Given the description of an element on the screen output the (x, y) to click on. 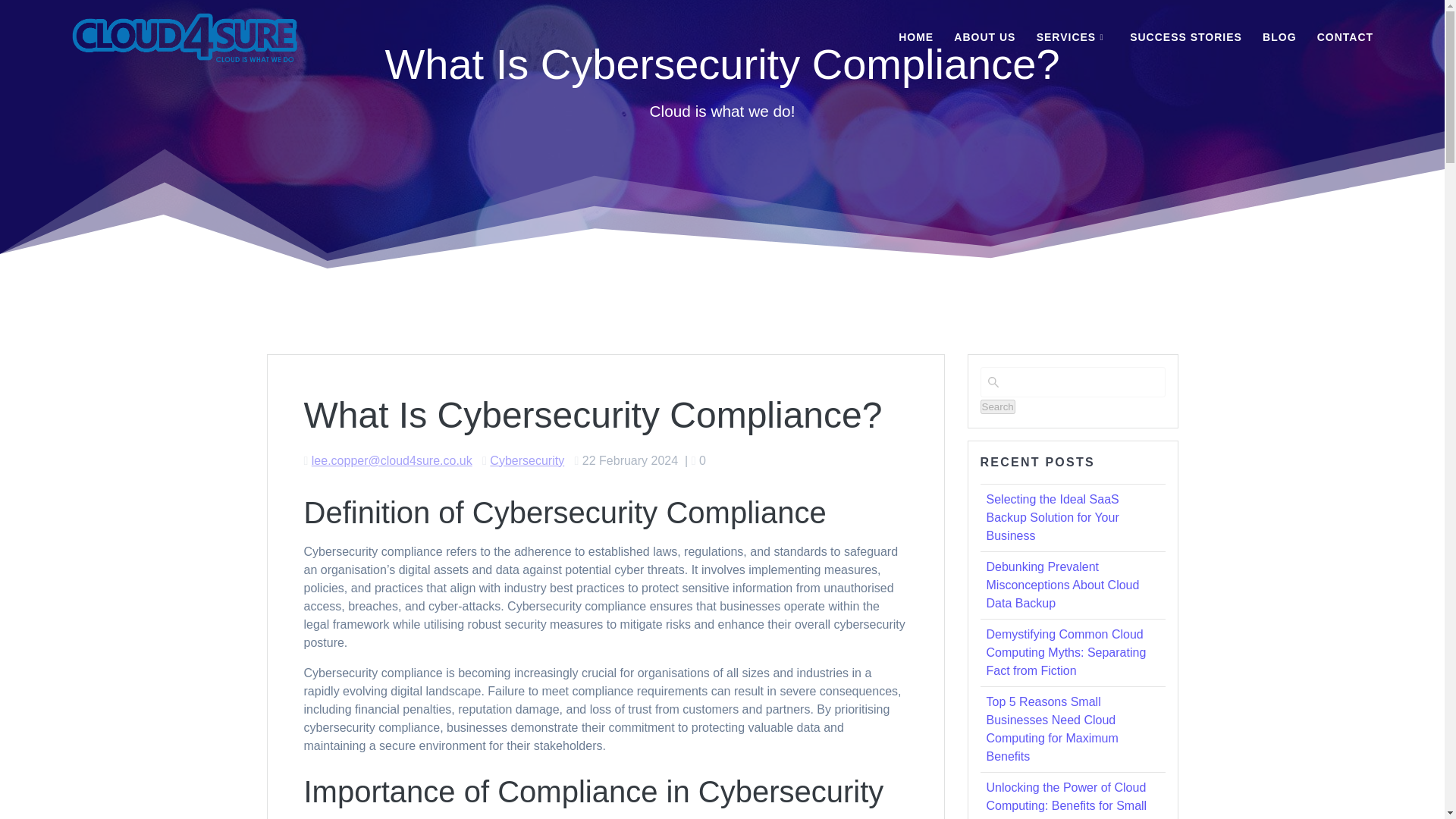
SUCCESS STORIES (1185, 37)
BLOG (1278, 37)
Search (996, 406)
Selecting the Ideal SaaS Backup Solution for Your Business (1051, 517)
Cybersecurity (526, 460)
CONTACT (1345, 37)
Debunking Prevalent Misconceptions About Cloud Data Backup (1061, 584)
HOME (915, 37)
